Given the description of an element on the screen output the (x, y) to click on. 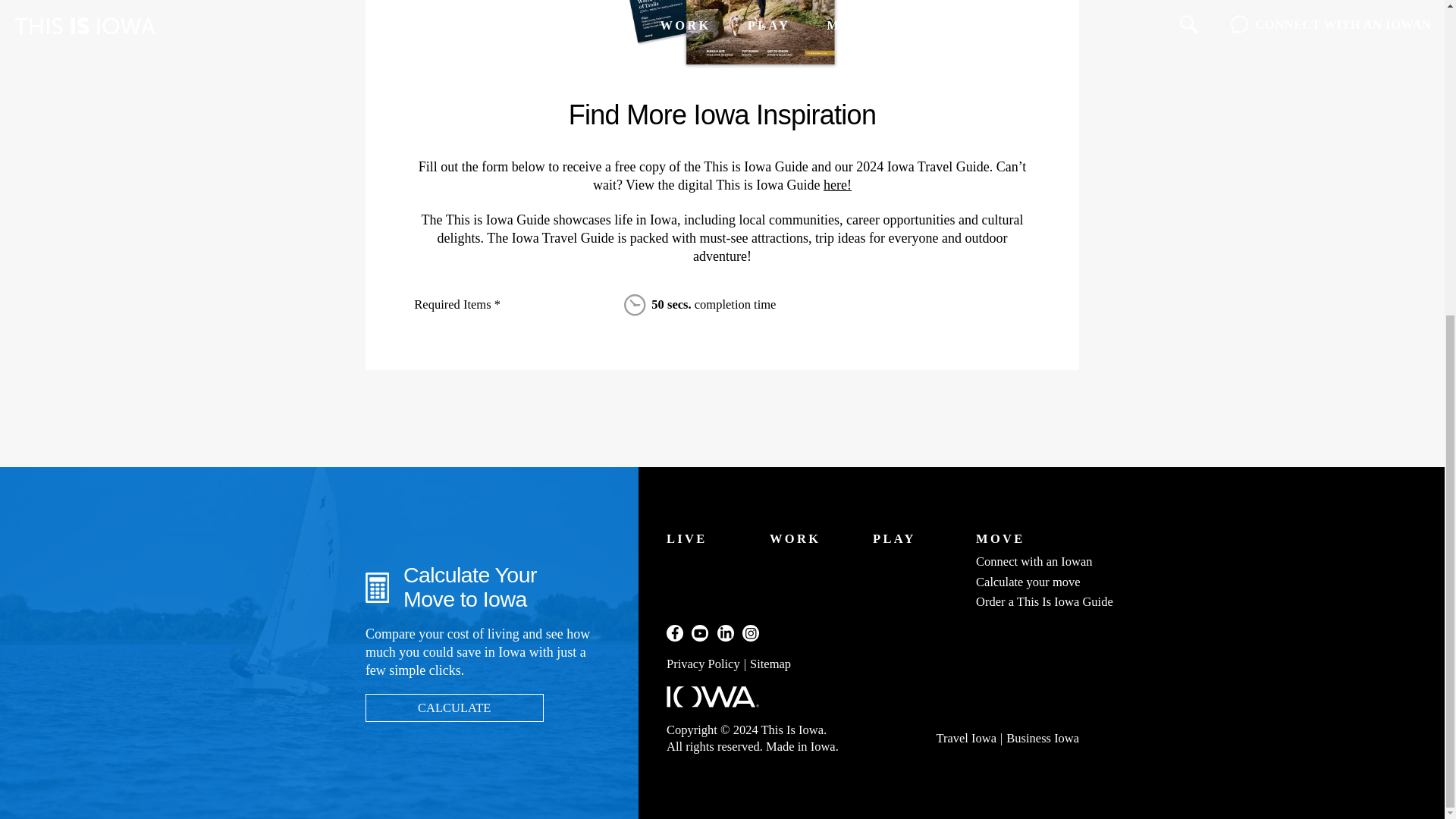
LIVE (686, 538)
Connect with an Iowan (1034, 561)
CALCULATE (454, 707)
Calculate your move (1027, 581)
WORK (795, 538)
PLAY (893, 538)
MOVE (1000, 538)
Order a This Is Iowa Guide (1044, 601)
here! (837, 184)
